Given the description of an element on the screen output the (x, y) to click on. 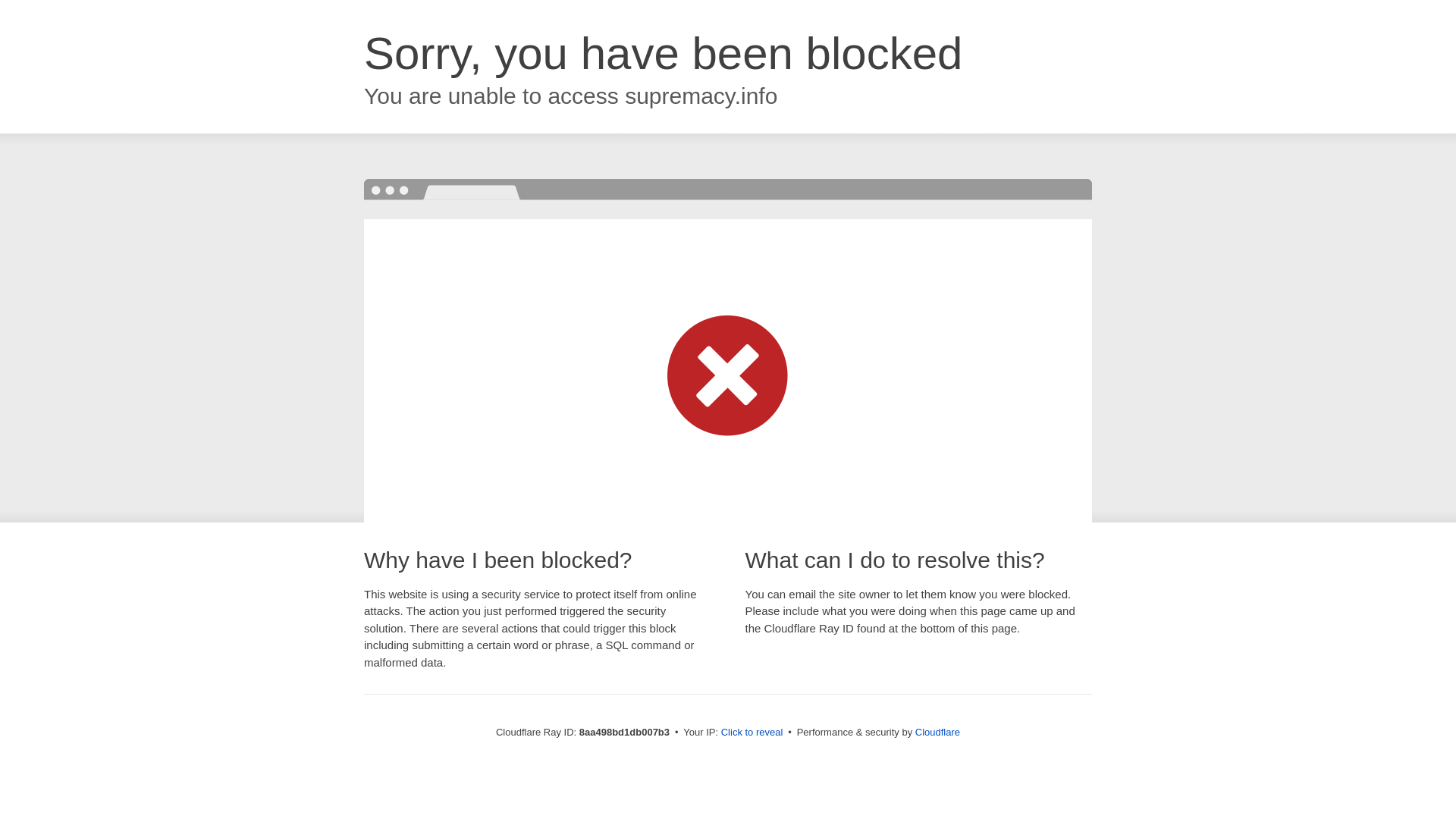
Cloudflare (937, 731)
Click to reveal (751, 732)
